Given the description of an element on the screen output the (x, y) to click on. 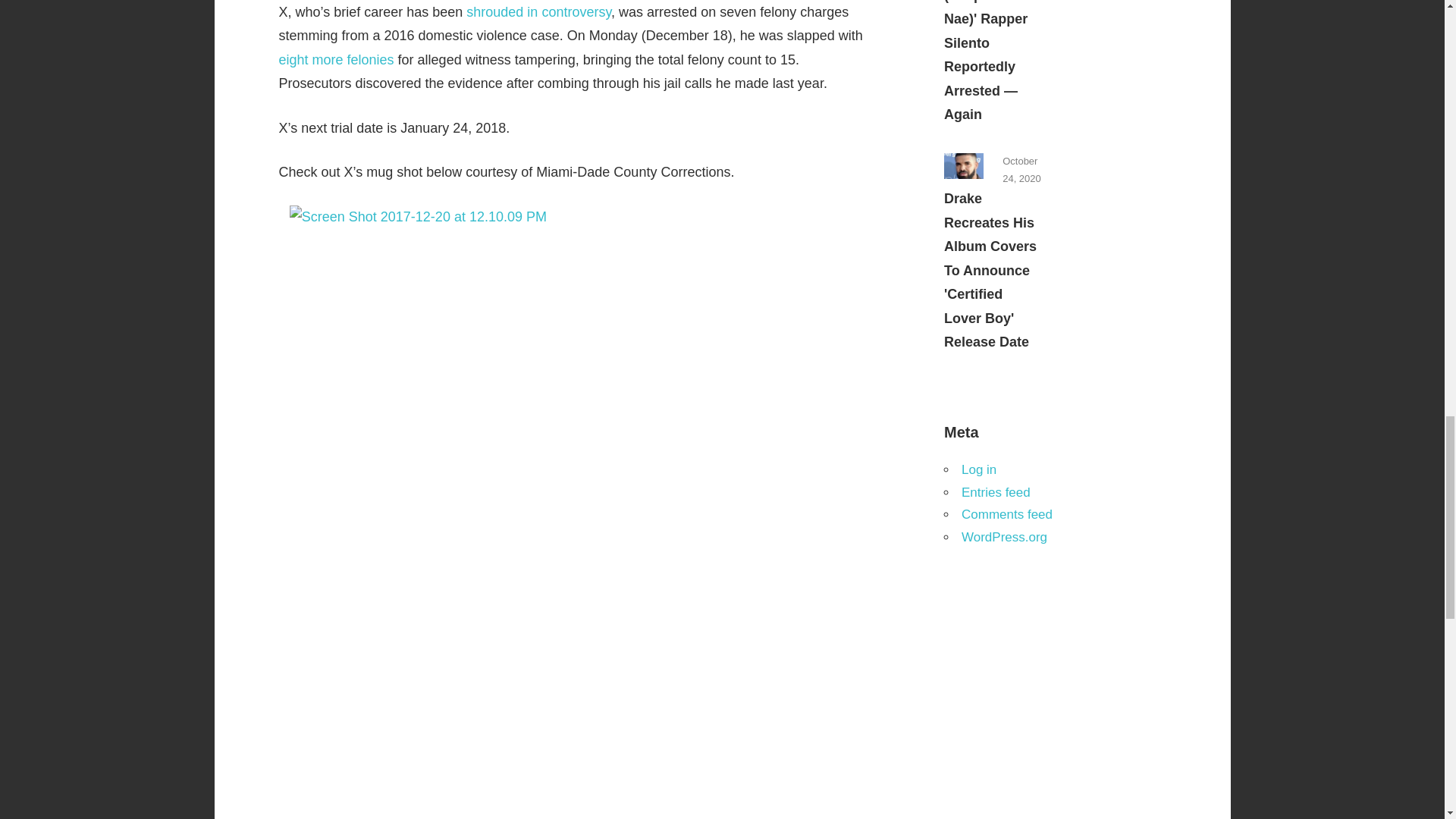
5:46 pm (1022, 169)
shrouded in controversy (538, 11)
eight more felonies (336, 59)
